Given the description of an element on the screen output the (x, y) to click on. 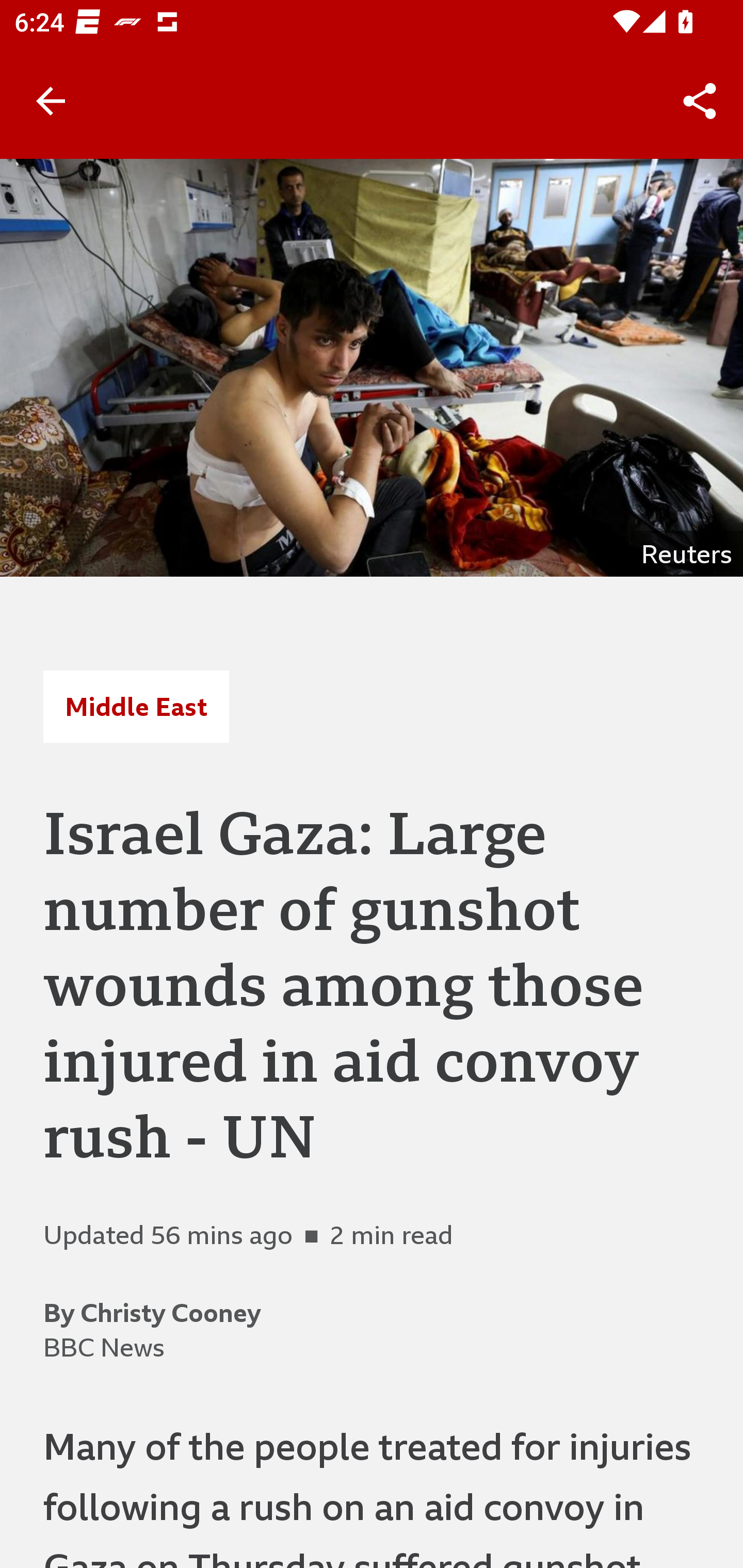
Back (50, 101)
Share (699, 101)
Middle East (135, 706)
